Given the description of an element on the screen output the (x, y) to click on. 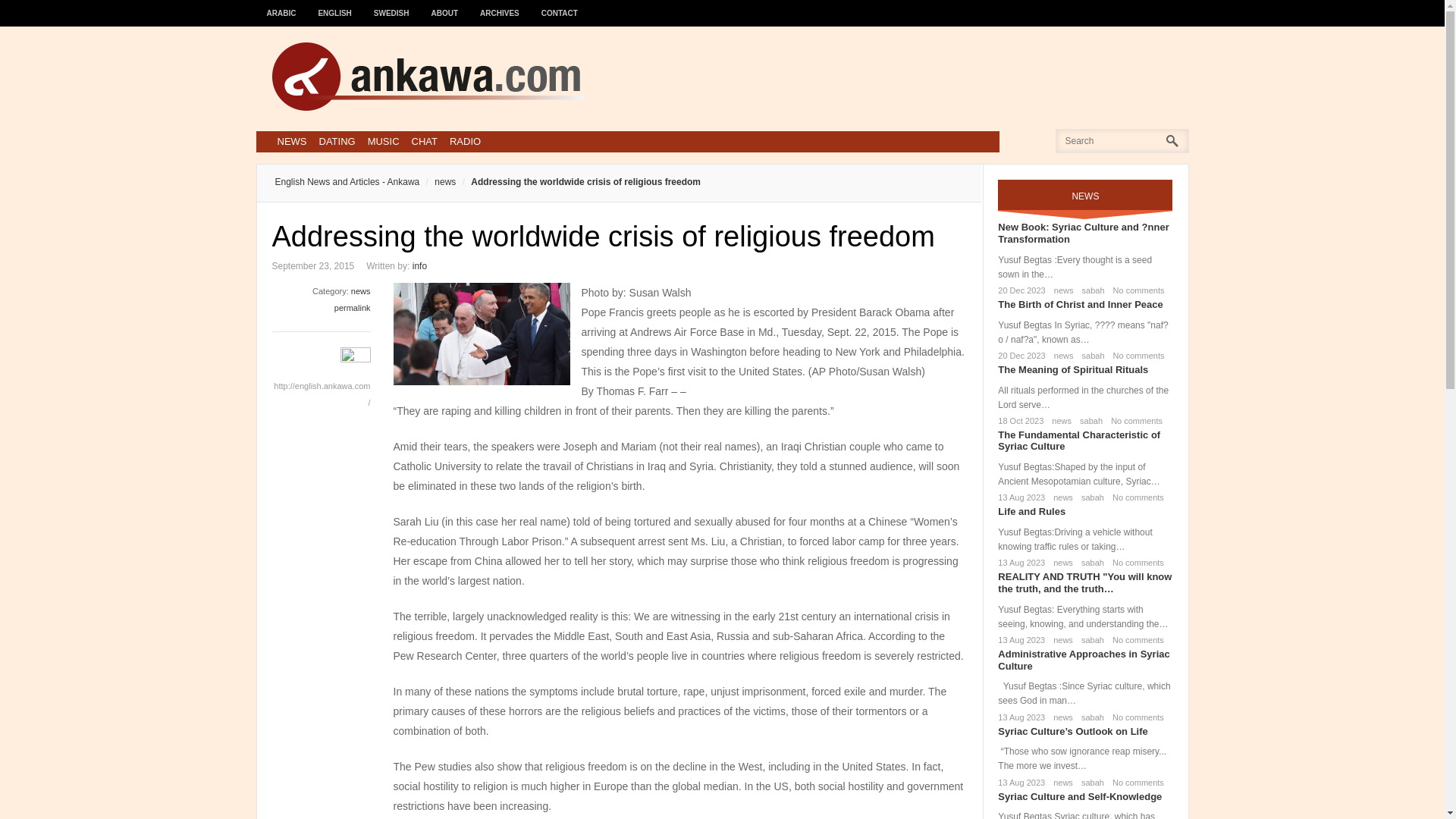
The Birth of Christ and Inner Peace (1079, 304)
No comments (1135, 355)
The Fundamental Characteristic of Syriac Culture (1078, 440)
sabah (1089, 497)
sabah (1088, 420)
ABOUT (445, 5)
news (1061, 355)
NEWS (291, 141)
news (360, 290)
Administrative Approaches in Syriac Culture (1083, 659)
